Given the description of an element on the screen output the (x, y) to click on. 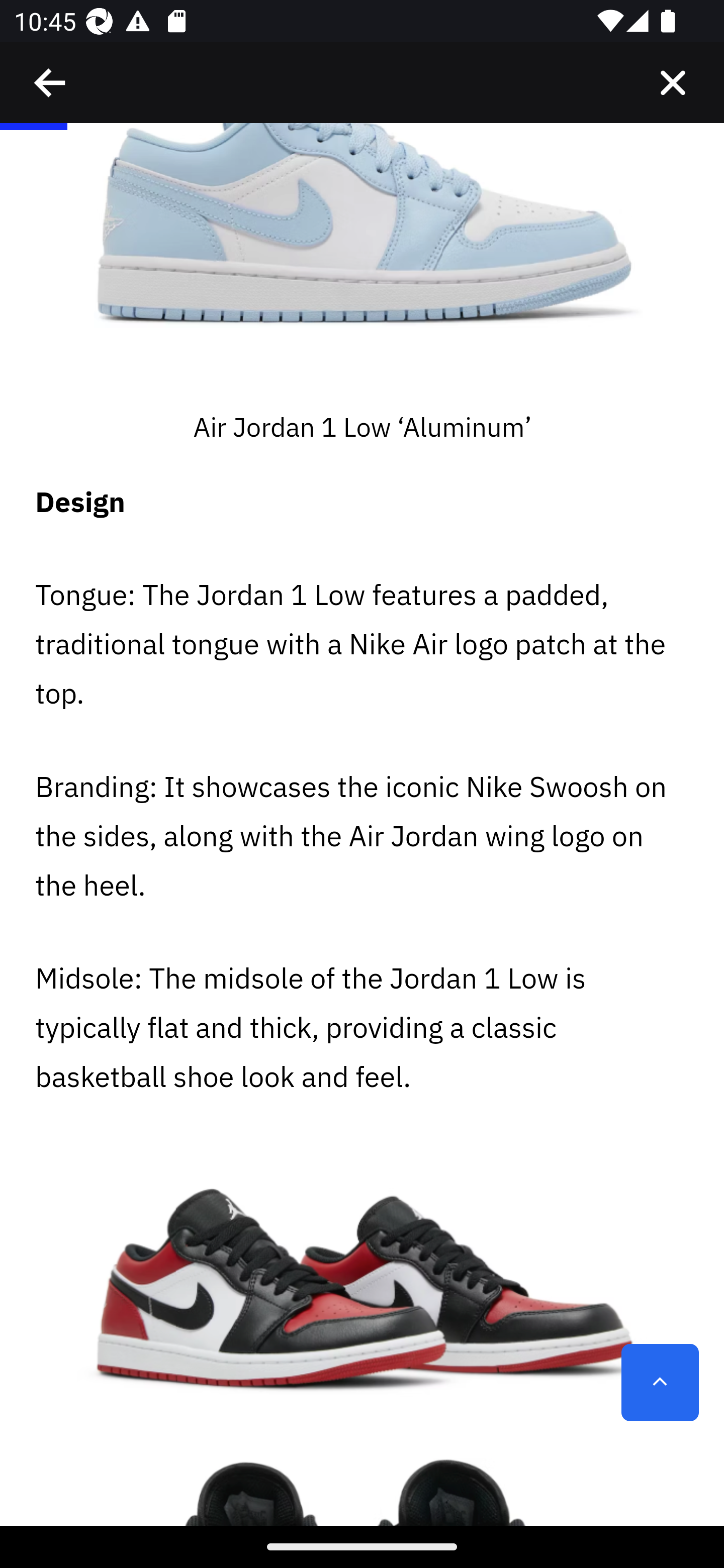
 (50, 83)
 (672, 83)
(Women) Air Jordan 1 Low 'Aluminum' DC0774‑141 (361, 264)
Scroll to top  (659, 1382)
